Given the description of an element on the screen output the (x, y) to click on. 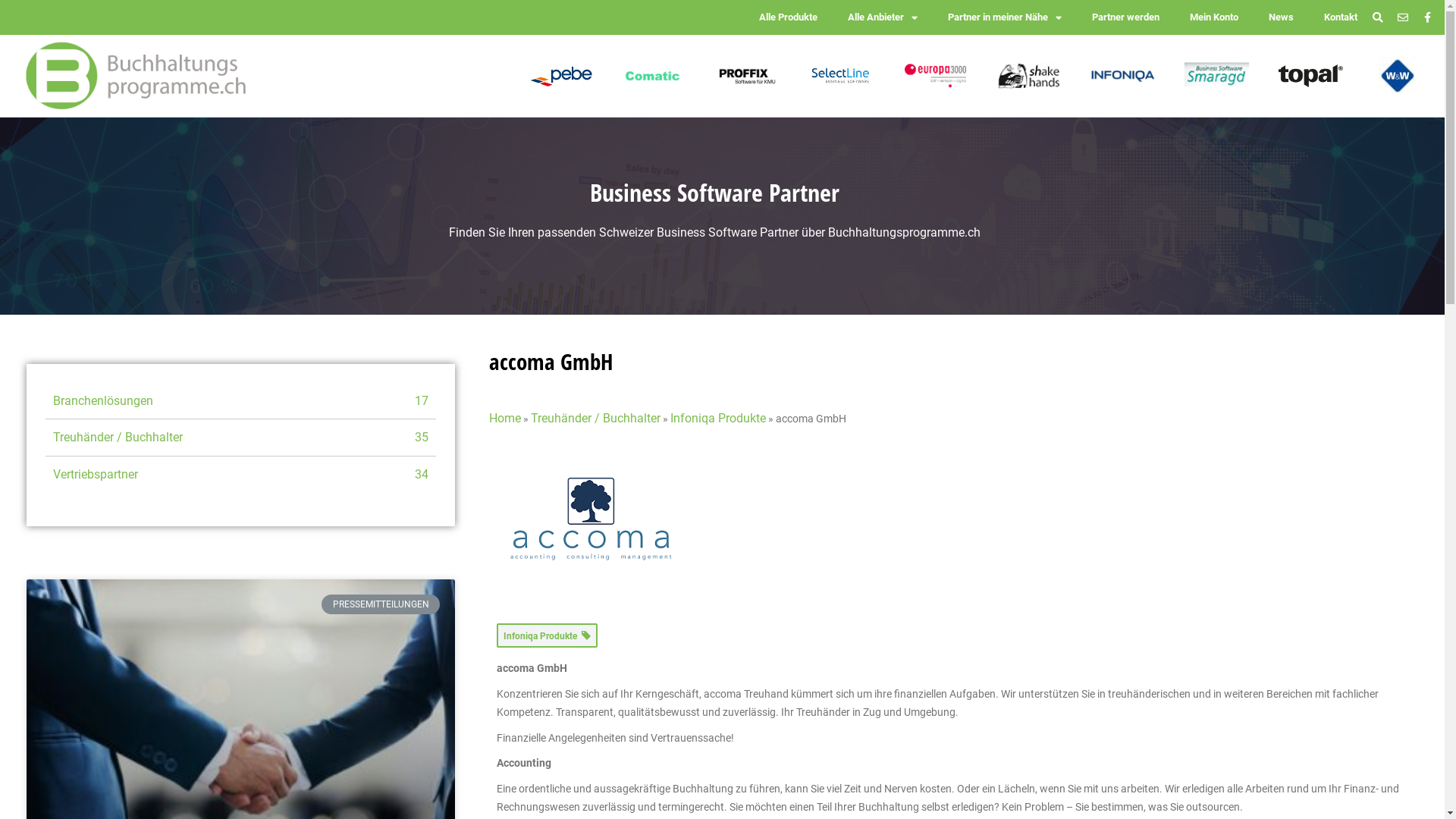
comatic_fibu Element type: hover (653, 75)
selectline_anbieter_logo Element type: hover (841, 75)
pebe_logo Element type: hover (559, 74)
Proffix_Px5_Software_Partner Element type: hover (747, 75)
buchhaltungsprogramme-shakehands Element type: hover (1029, 76)
Vertriebspartner
34 Element type: text (240, 474)
Kontakt Element type: text (1340, 17)
News Element type: text (1280, 17)
Alle Produkte Element type: text (787, 17)
topal-logo Element type: hover (1310, 75)
Alle Anbieter Element type: text (882, 17)
smaragd-buchhaltungsprogramme Element type: hover (1216, 76)
Partner werden Element type: text (1125, 17)
Home Element type: text (504, 418)
wundw Element type: hover (1397, 75)
infoniqa_Software Element type: hover (1122, 75)
europa3000_erp_software_logo Element type: hover (935, 75)
Infoniqa Produkte Element type: text (717, 418)
Mein Konto Element type: text (1213, 17)
Infoniqa Produkte   Element type: text (546, 634)
